Given the description of an element on the screen output the (x, y) to click on. 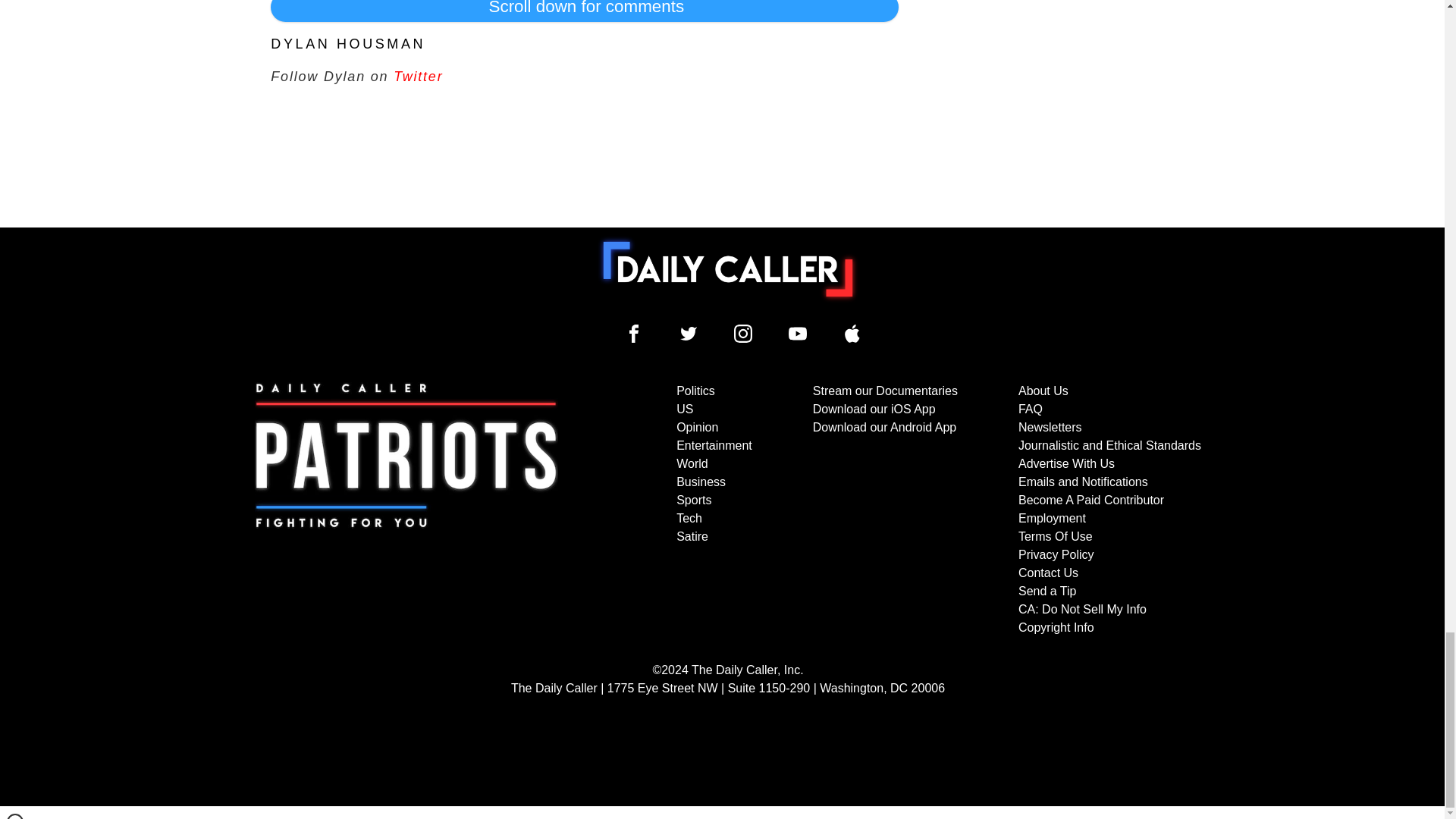
Scroll down for comments (584, 10)
Daily Caller Twitter (688, 333)
Daily Caller Facebook (633, 333)
Daily Caller Instagram (742, 333)
Daily Caller YouTube (797, 333)
Subscribe to The Daily Caller (405, 509)
To home page (727, 268)
Daily Caller YouTube (852, 333)
